Given the description of an element on the screen output the (x, y) to click on. 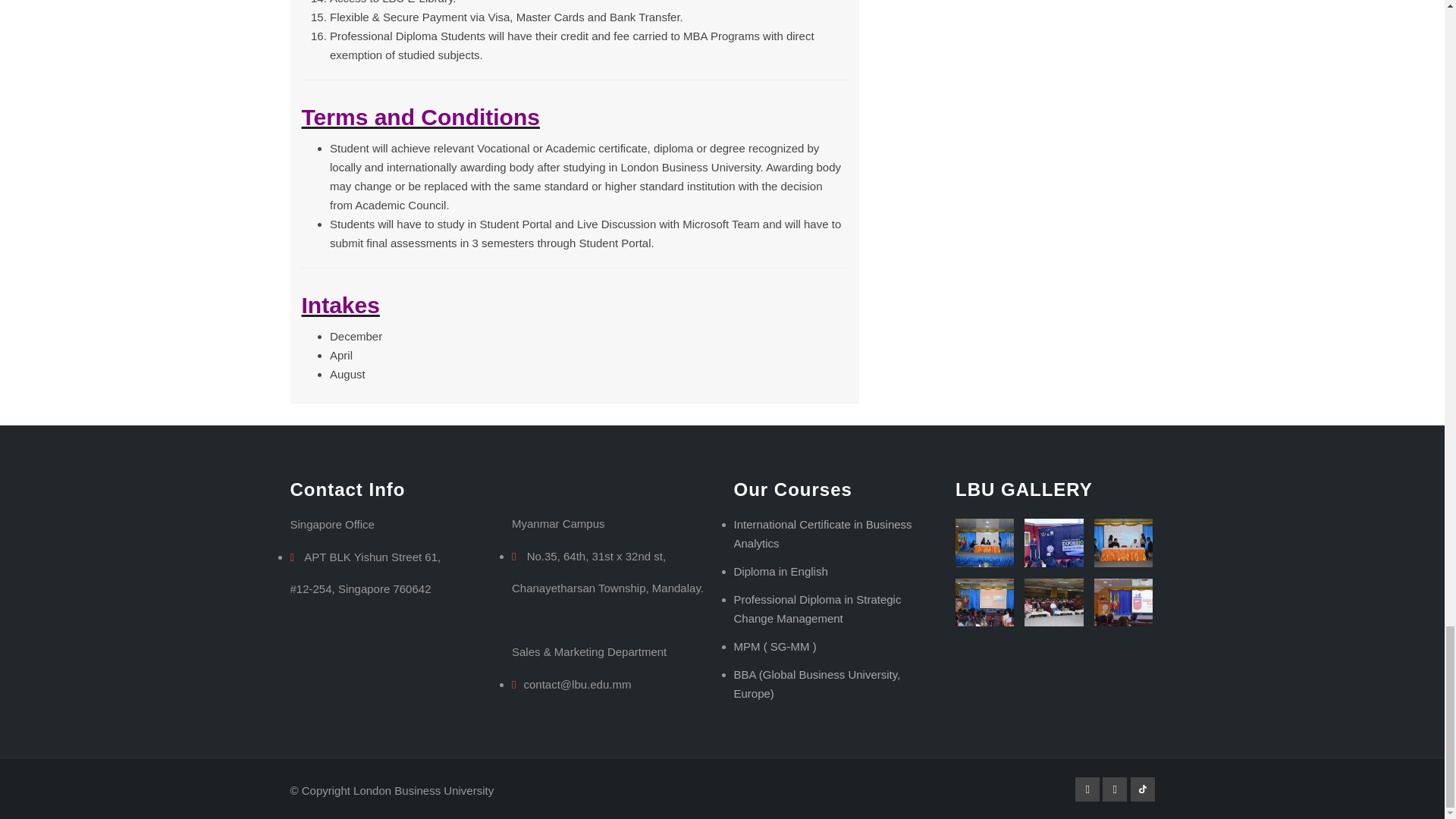
The-First-Seminar-Public-Seminar-of-LBA-in-MRCCI (984, 601)
MOU-Signing-of-LBA-and-MRCCI (984, 542)
MOU-Signing-of-LBA-and-MRCCI (1123, 542)
The-First-Seminar-Public-Seminar-of-LBA-in-MRCCI (1123, 601)
The-First-Seminar-Public-Seminar-of-LBA-in-MRCCI (1053, 601)
LBU-President-as-a-Keynote-Speaker-in-Job-Expo (1053, 542)
